Given the description of an element on the screen output the (x, y) to click on. 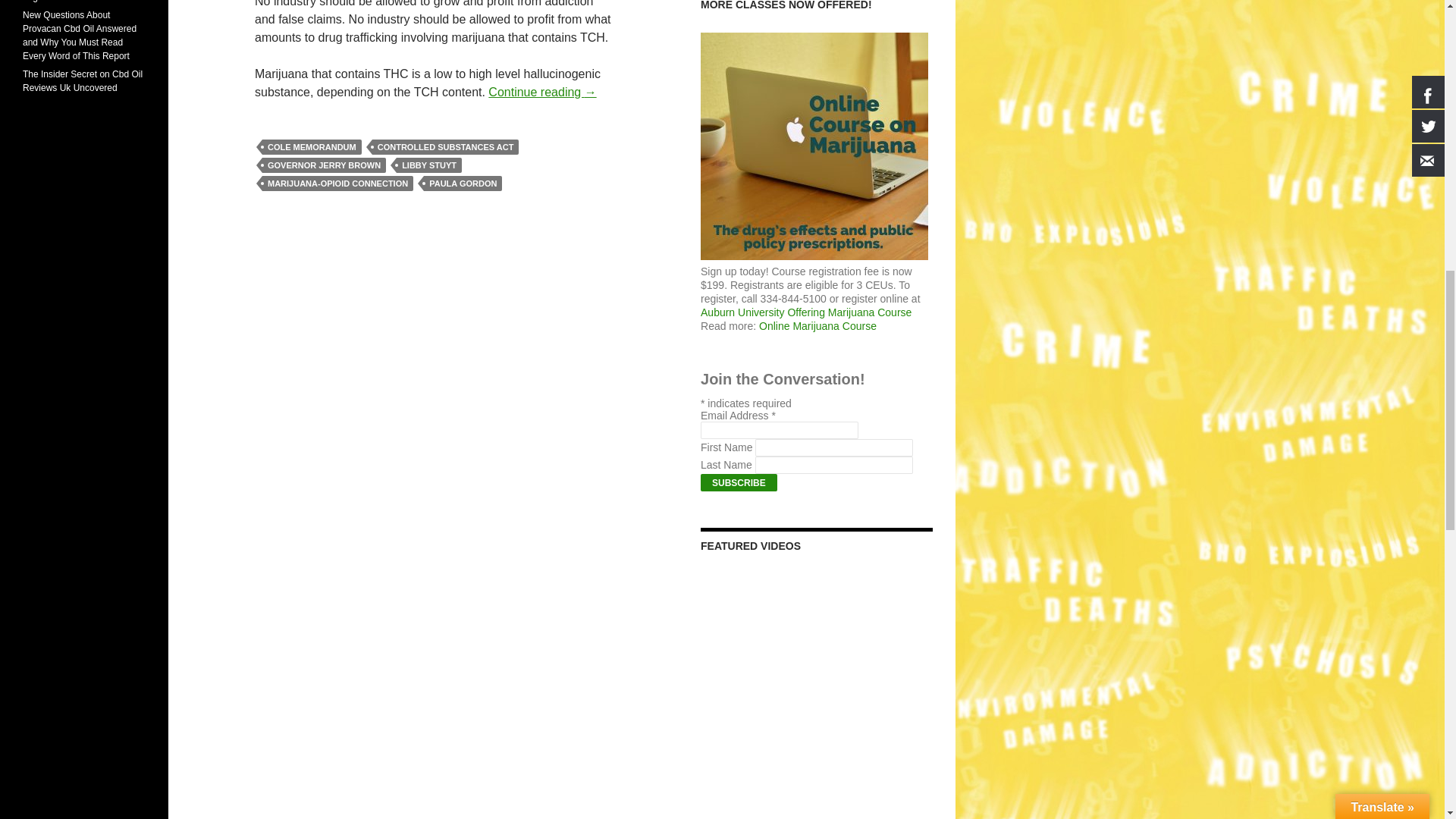
Subscribe (738, 482)
